Given the description of an element on the screen output the (x, y) to click on. 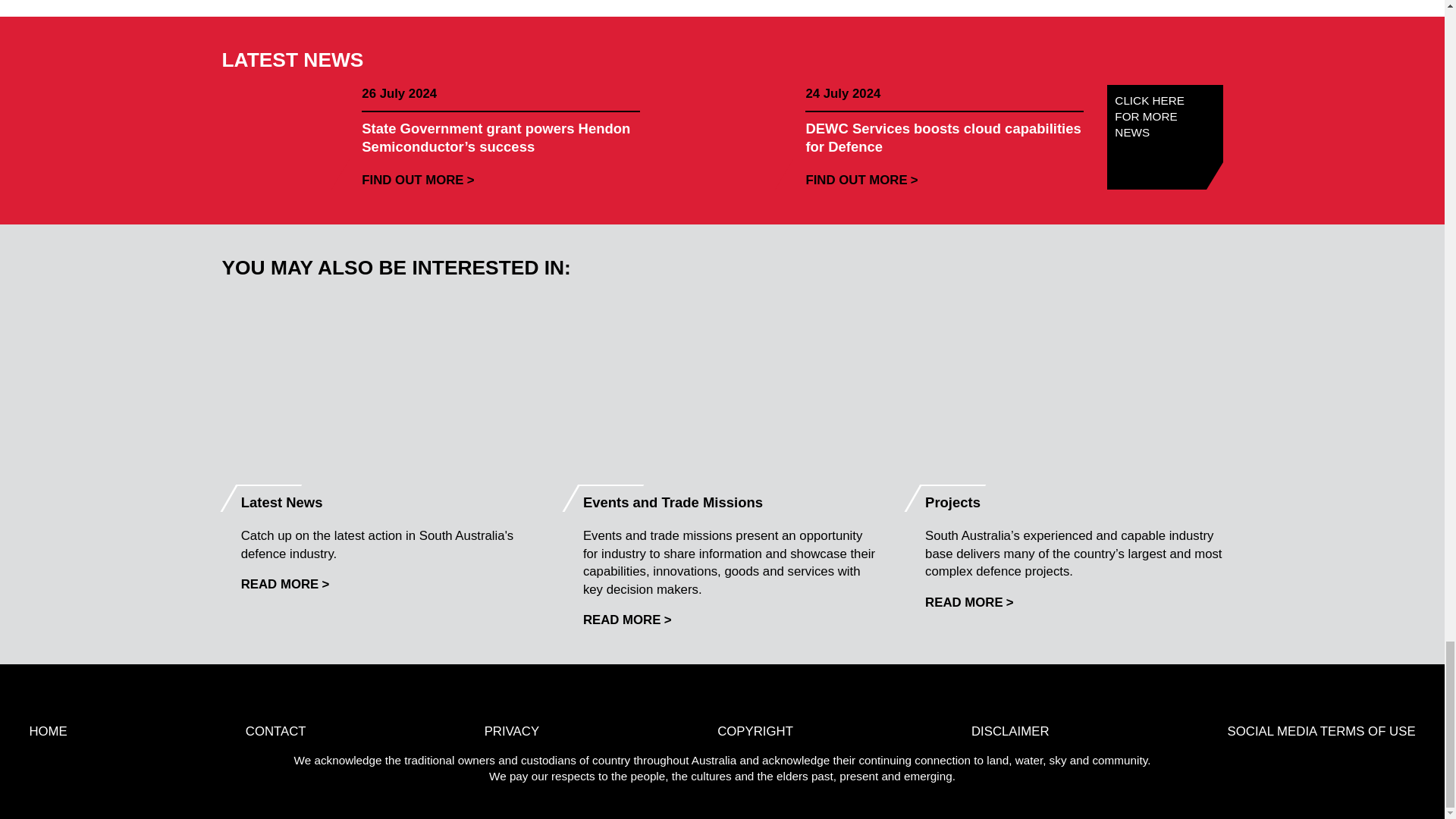
View: Latest News (285, 584)
View: Events and Trade Missions (627, 619)
View: Projects (968, 602)
